Given the description of an element on the screen output the (x, y) to click on. 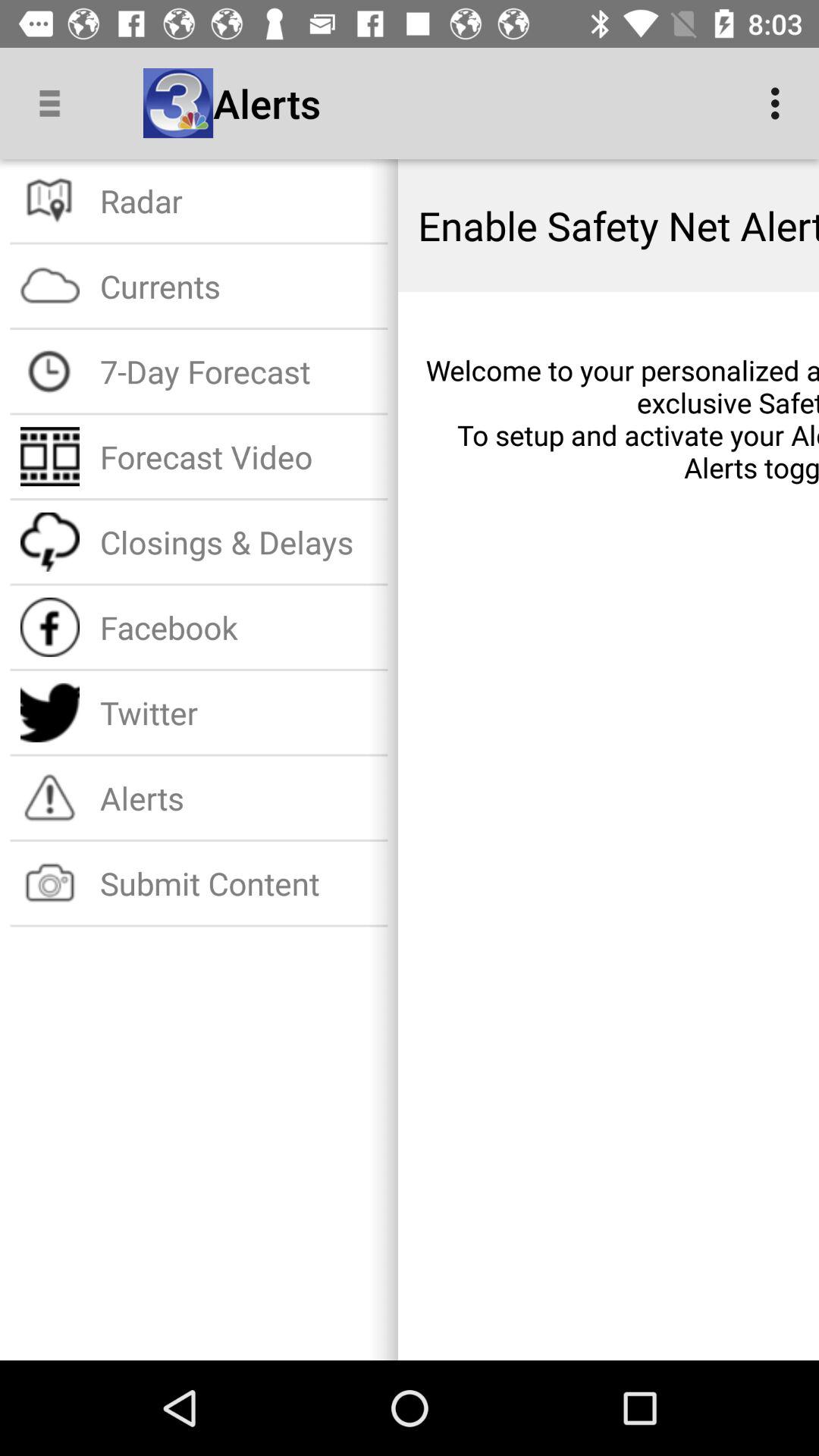
tap icon above the alerts item (238, 712)
